Given the description of an element on the screen output the (x, y) to click on. 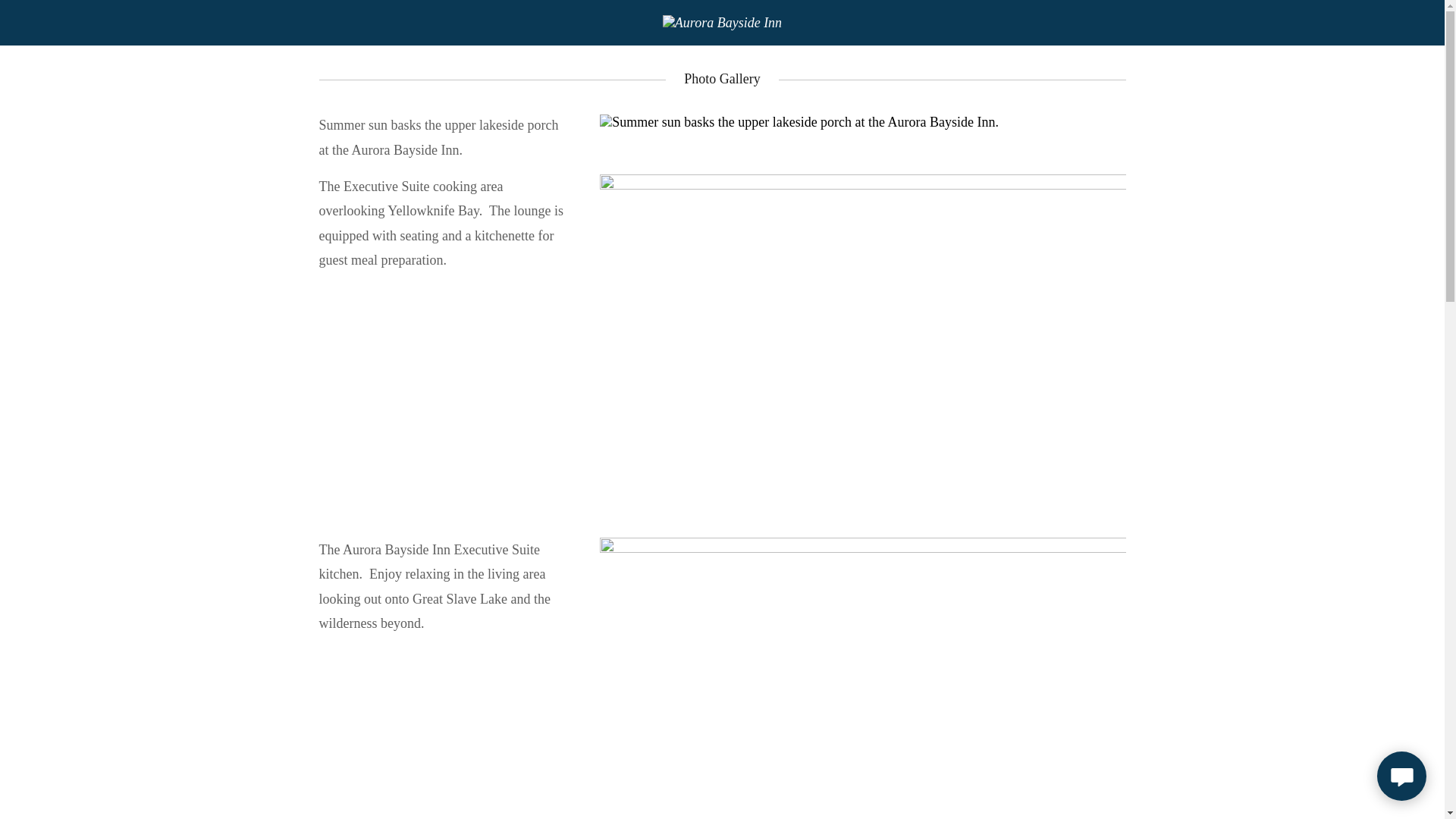
Aurora Bayside Inn Element type: hover (721, 21)
